Given the description of an element on the screen output the (x, y) to click on. 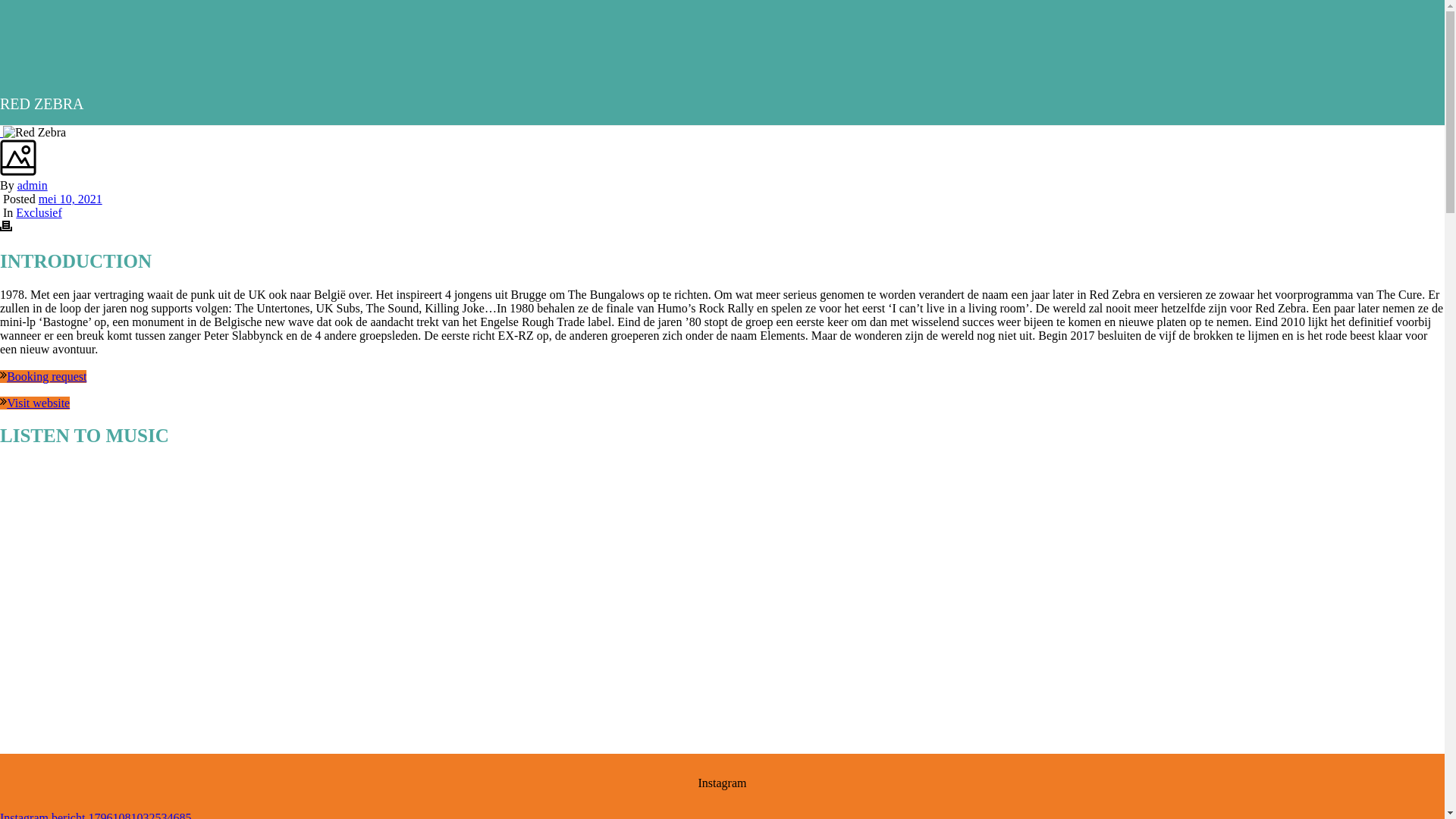
Exclusief Element type: text (38, 212)
  Element type: text (1, 131)
admin Element type: text (32, 184)
mei 10, 2021 Element type: text (70, 198)
Print Element type: hover (6, 227)
Booking request Element type: text (43, 376)
Red Zebra Element type: hover (1, 131)
Visit website Element type: text (34, 402)
Red Zebra Element type: hover (34, 132)
